Given the description of an element on the screen output the (x, y) to click on. 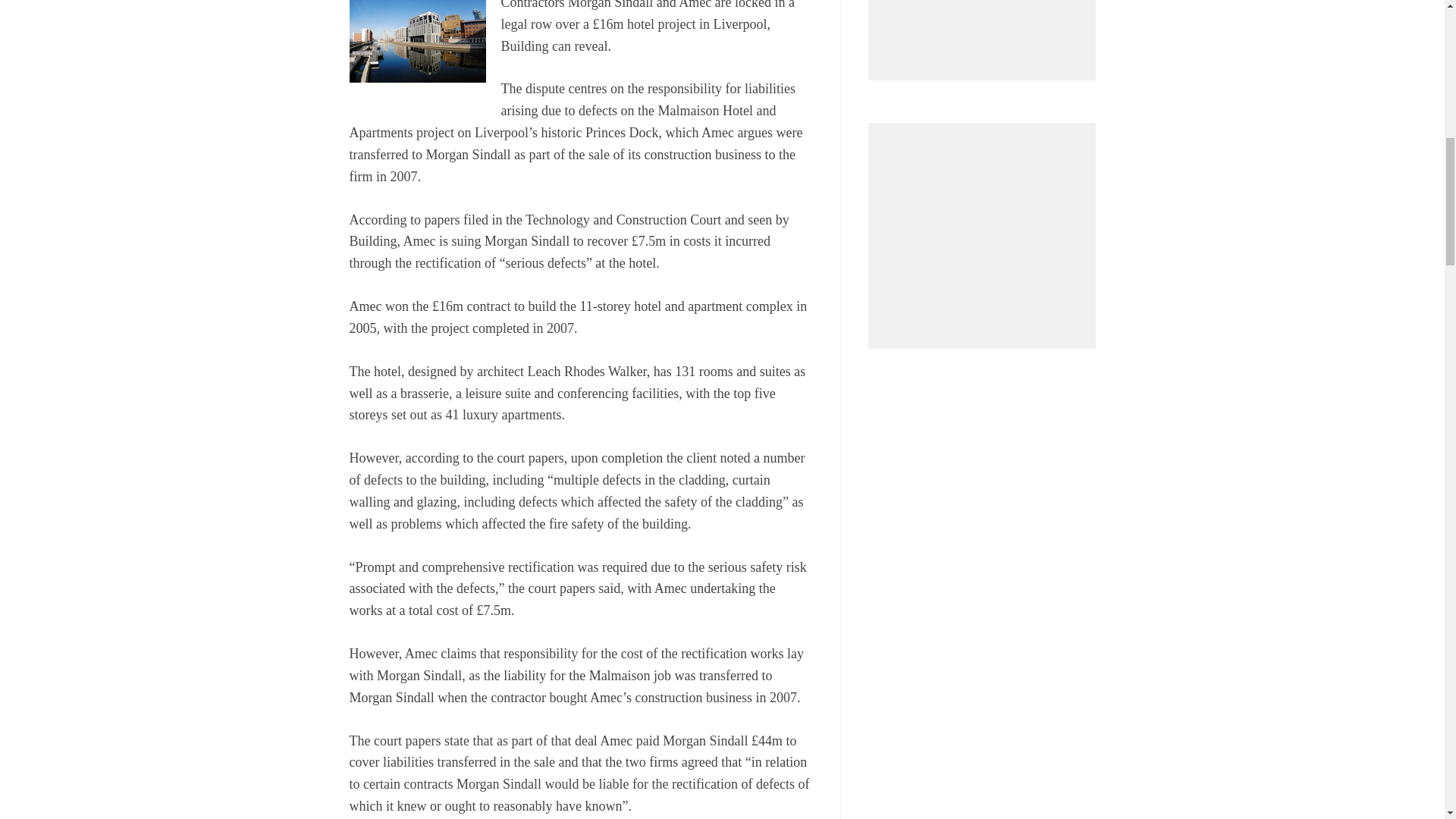
3rd party ad content (985, 227)
3rd party ad content (985, 27)
